Given the description of an element on the screen output the (x, y) to click on. 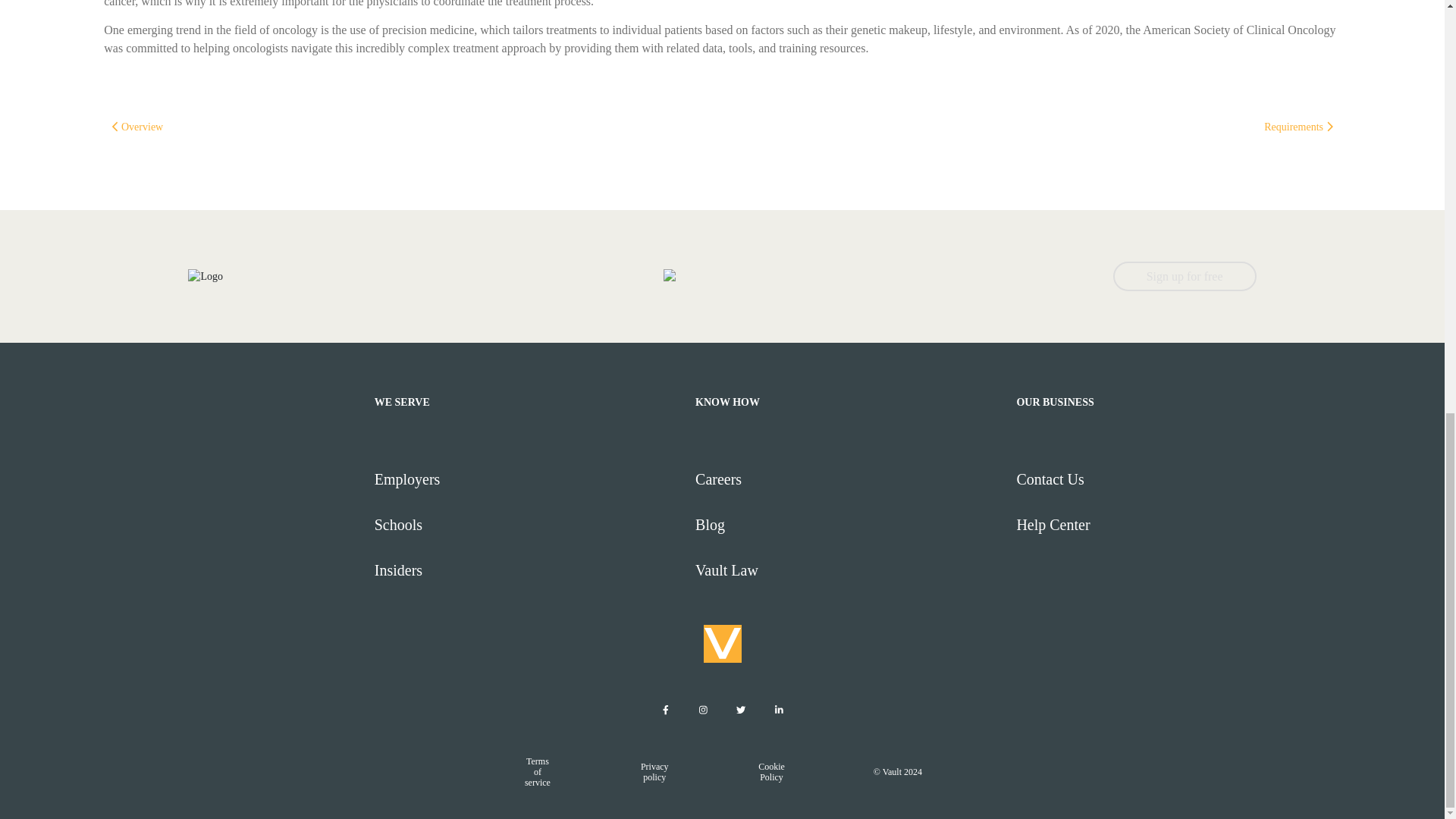
Overview (137, 126)
Insiders (528, 570)
Employers (528, 478)
Requirements (1297, 126)
Careers (849, 478)
Sign up for free (1184, 276)
Blog (849, 524)
Schools (528, 524)
Vault Law (849, 570)
Contact Us (1170, 478)
Help Center (1170, 524)
